Given the description of an element on the screen output the (x, y) to click on. 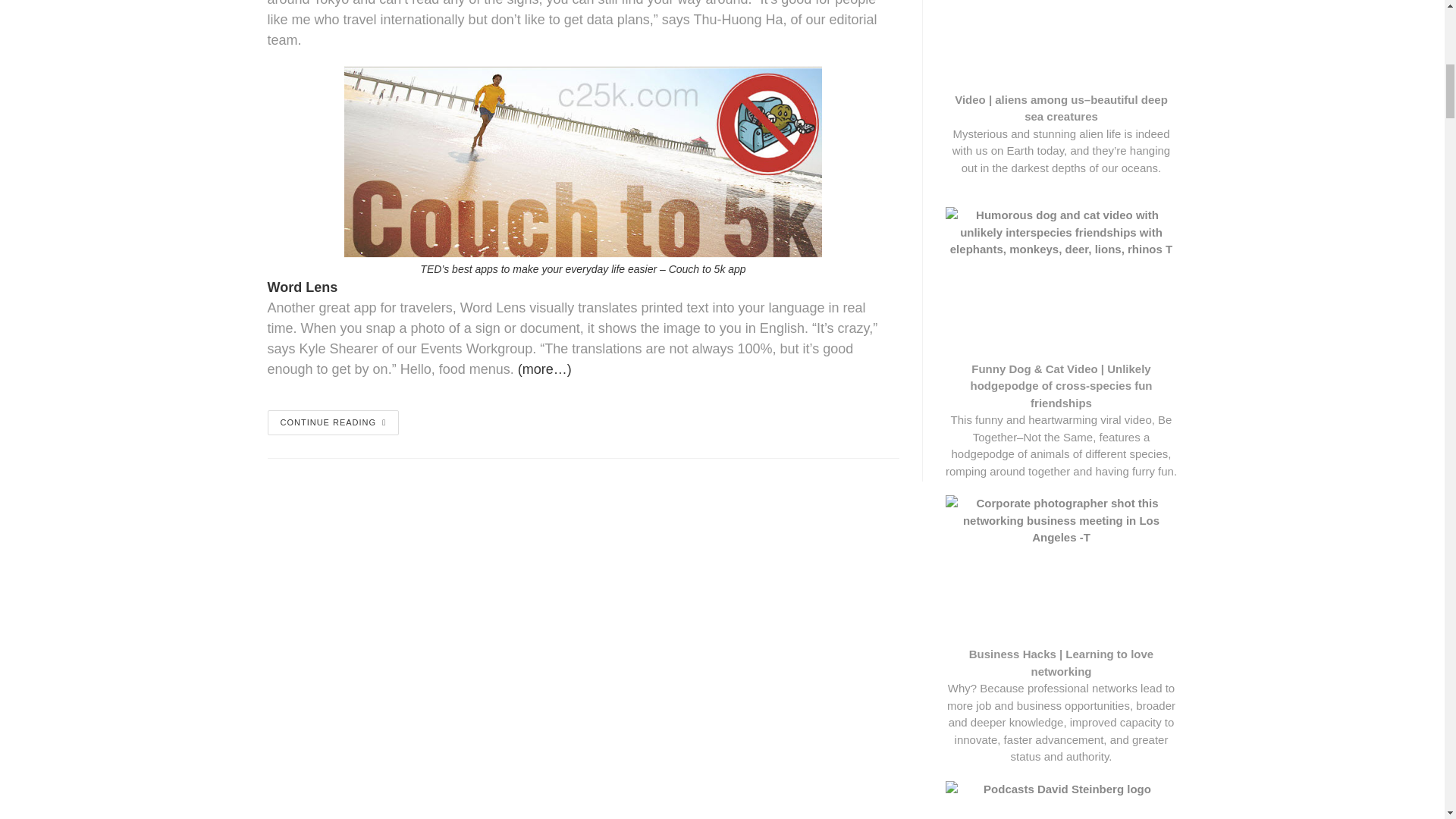
Continue Reading (332, 422)
